Given the description of an element on the screen output the (x, y) to click on. 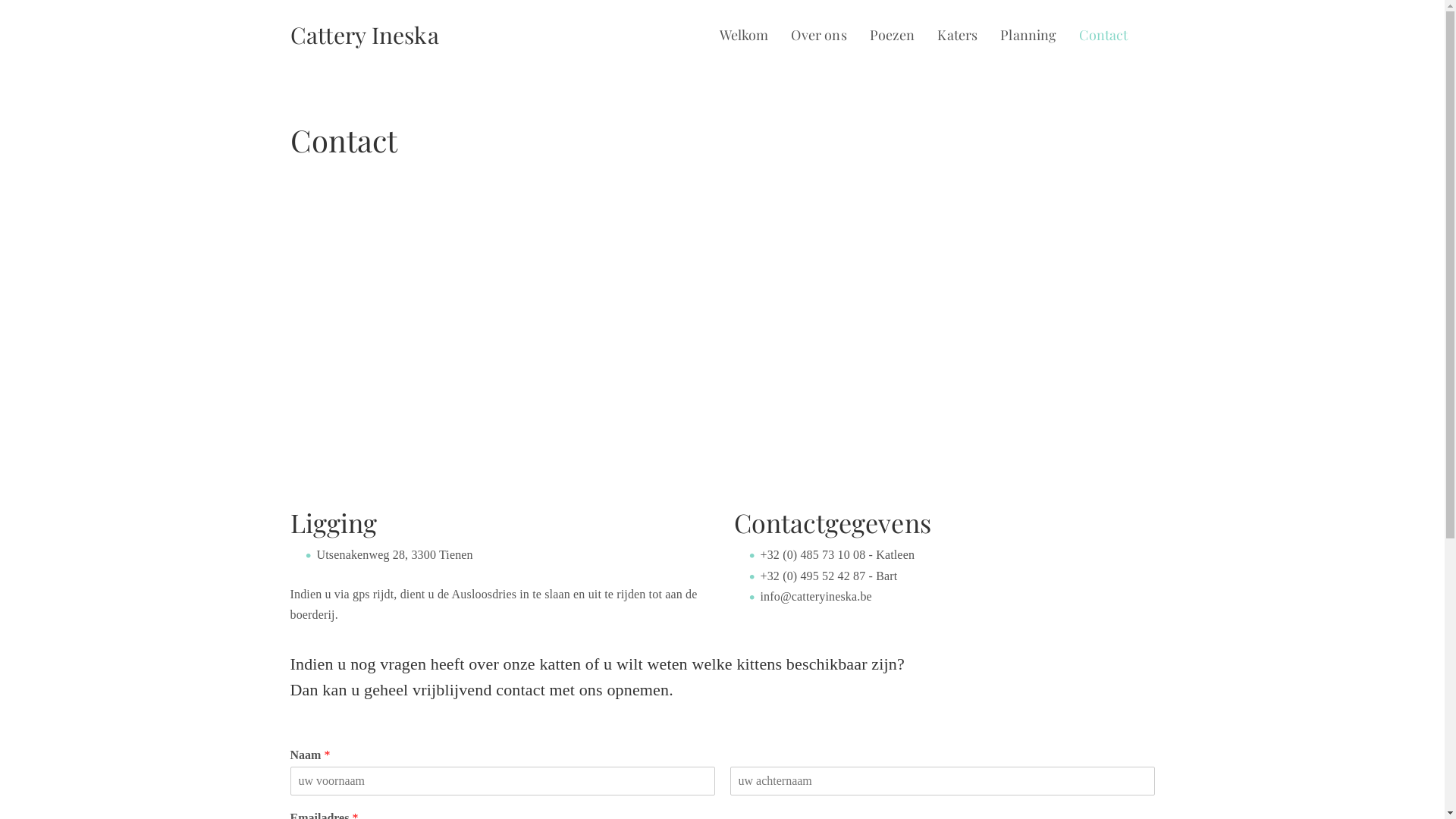
Contact Element type: text (1103, 35)
Welkom Element type: text (744, 35)
Planning Element type: text (1027, 35)
Cattery Ineska Element type: text (363, 34)
Katers Element type: text (957, 35)
Over ons Element type: text (818, 35)
Poezen Element type: text (892, 35)
